Given the description of an element on the screen output the (x, y) to click on. 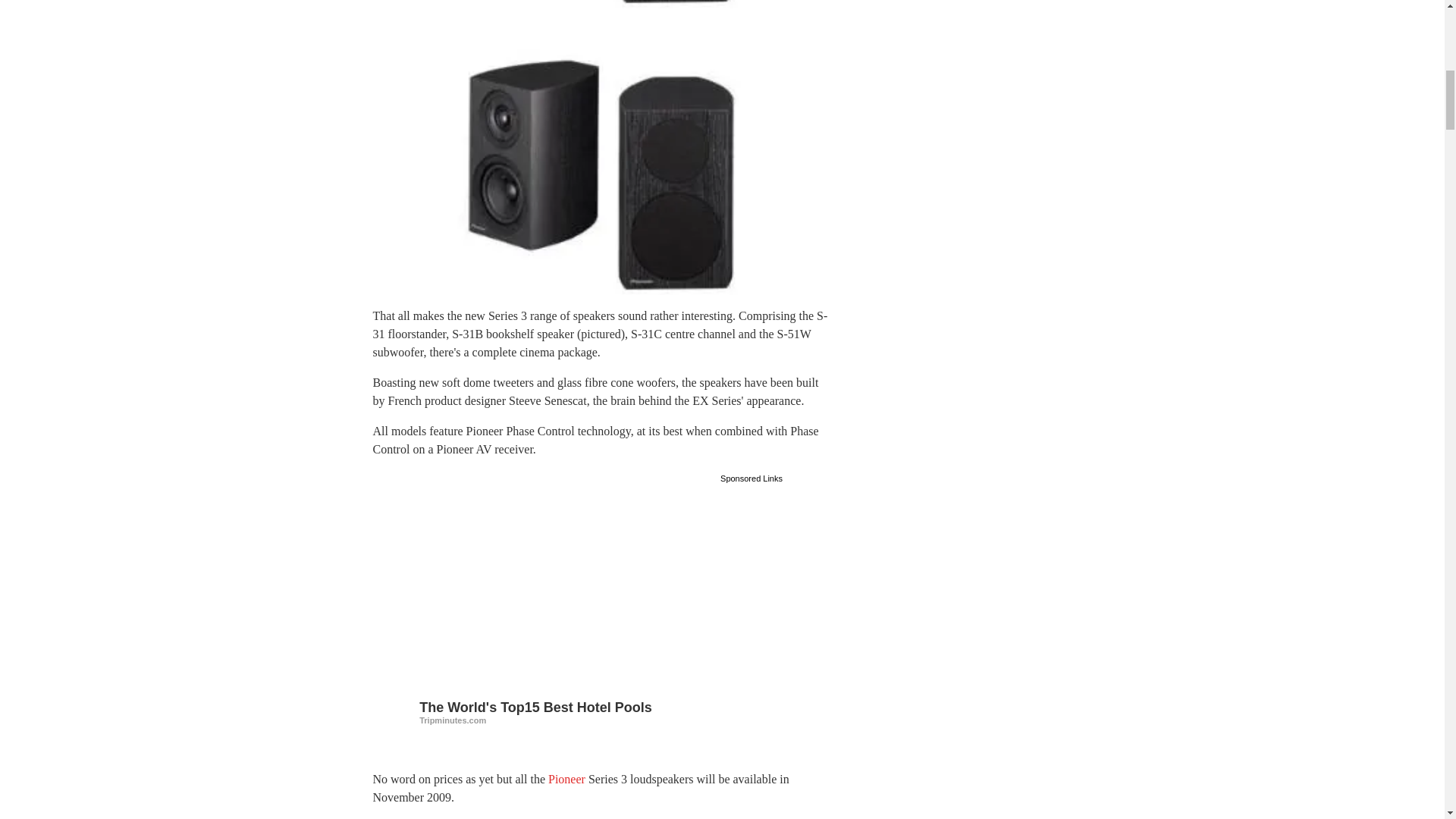
The World's Top15 Best Hotel Pools (601, 711)
